Given the description of an element on the screen output the (x, y) to click on. 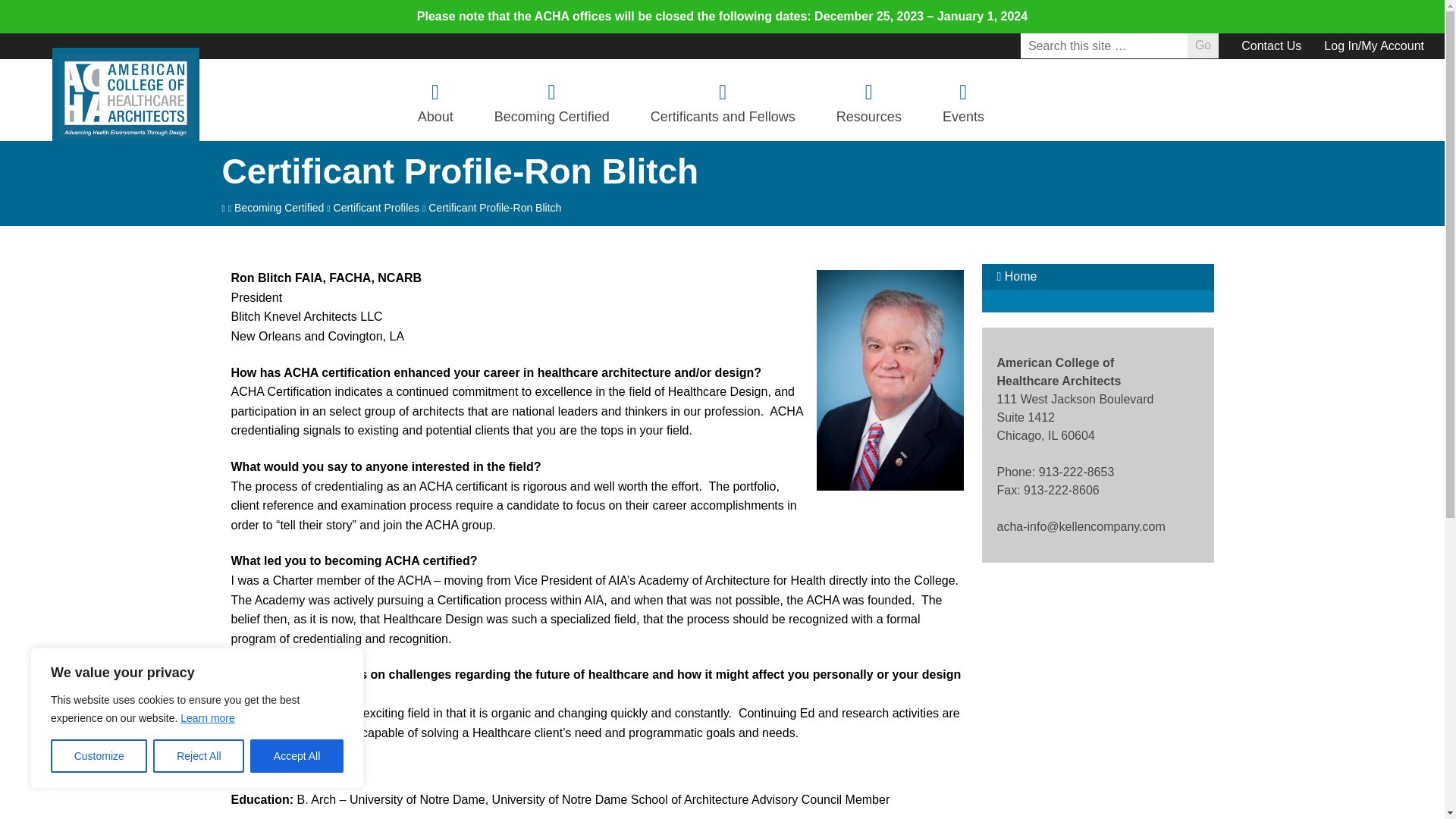
Go to Certificant Profiles. (376, 207)
About (435, 99)
Customize (98, 756)
Contact Us (1271, 46)
Go (1203, 45)
Accept All (296, 756)
Learn more (207, 717)
Go (1203, 45)
Reject All (198, 756)
Go (1203, 45)
Becoming Certified (552, 99)
Go to Becoming Certified. (278, 207)
